Given the description of an element on the screen output the (x, y) to click on. 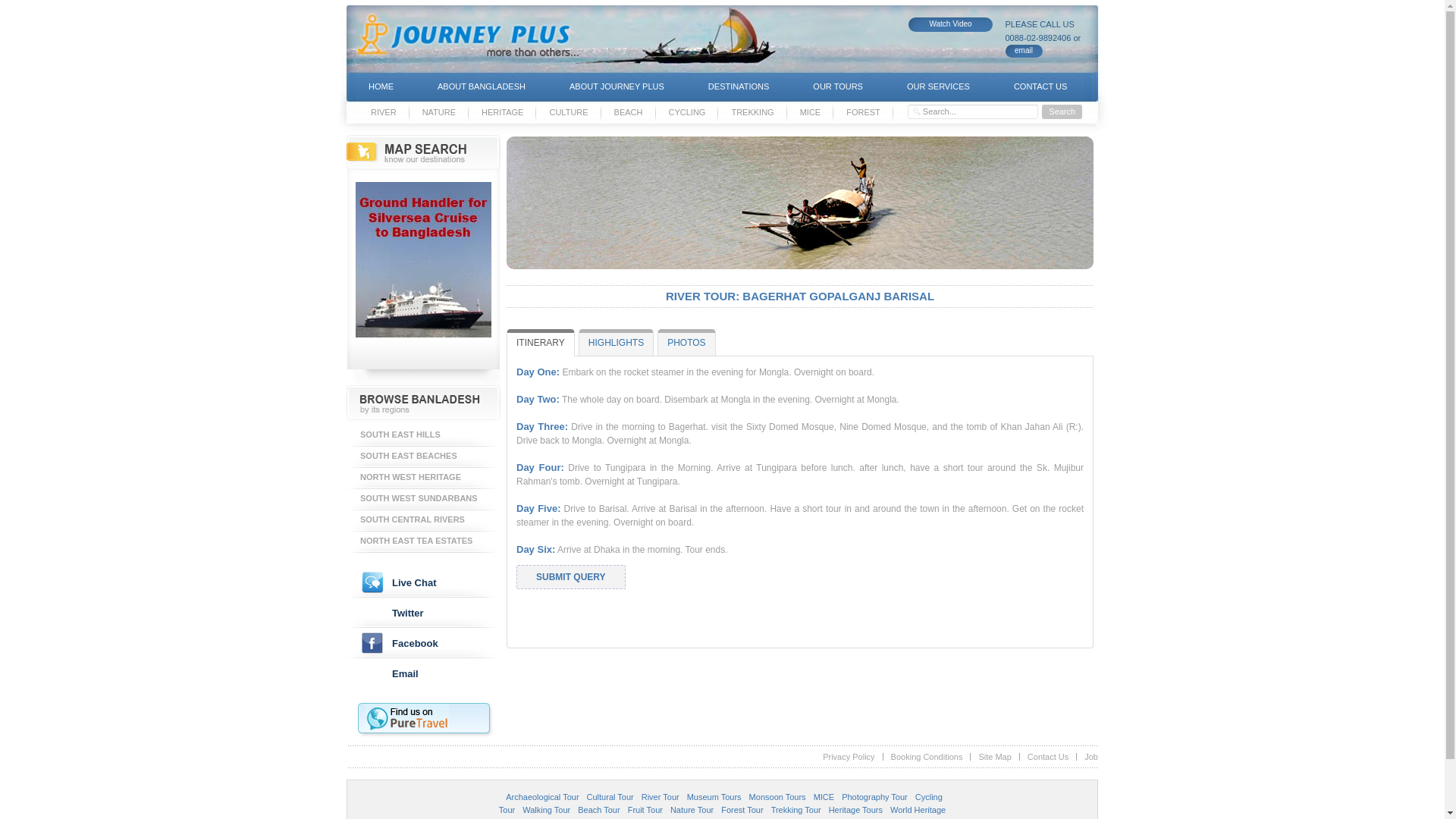
Journey Plus Facebook (423, 643)
NATURE (438, 112)
Mail to Journey Plus (423, 673)
OUR SERVICES (938, 86)
Contact to JourneyPlus (1024, 51)
River and Greenery of the Central South (423, 520)
CULTURE (567, 112)
DESTINATIONS (737, 86)
Watch Video (950, 24)
Journey Plus Video (950, 24)
